Given the description of an element on the screen output the (x, y) to click on. 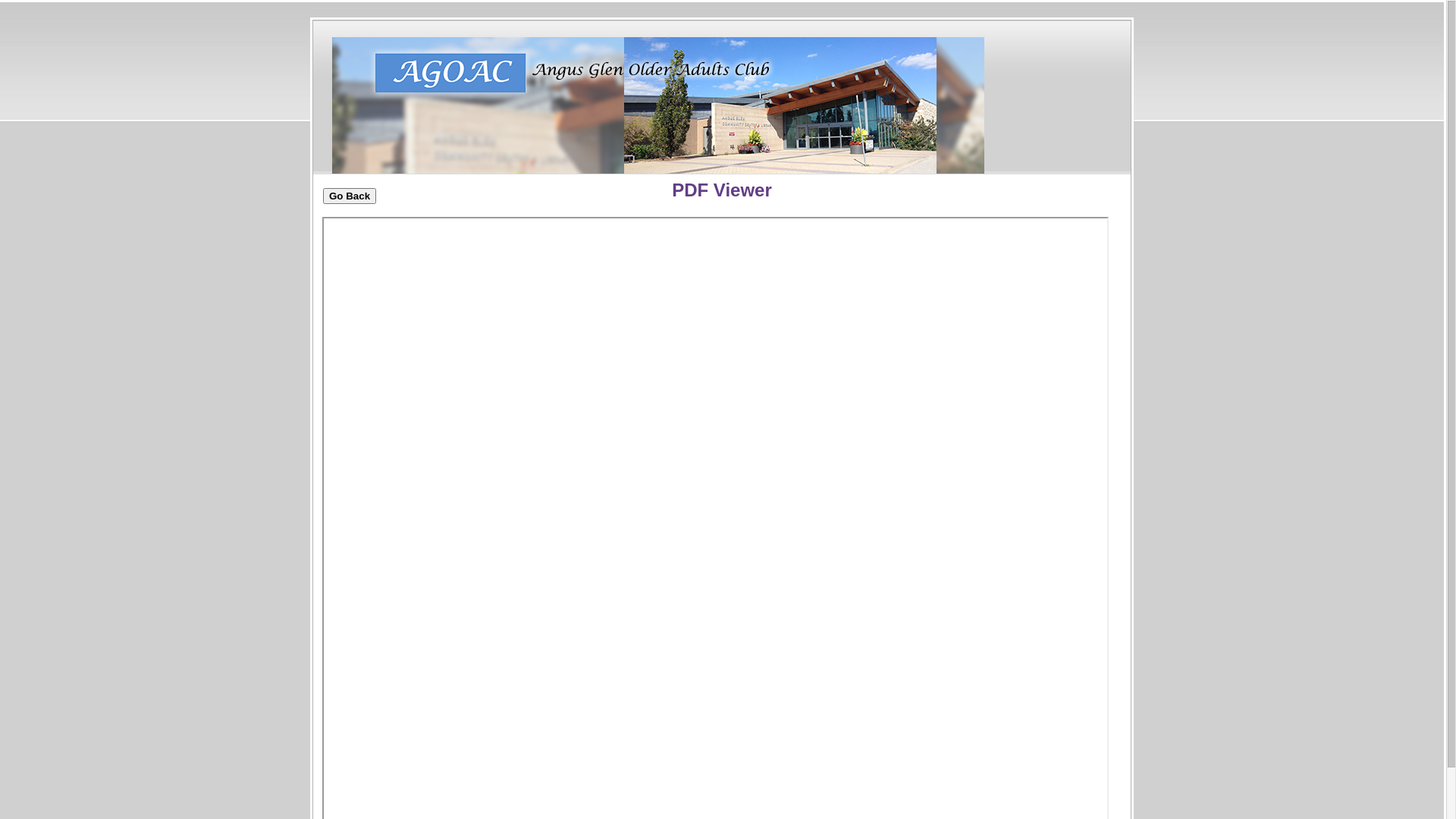
Go Back Element type: text (349, 195)
